Given the description of an element on the screen output the (x, y) to click on. 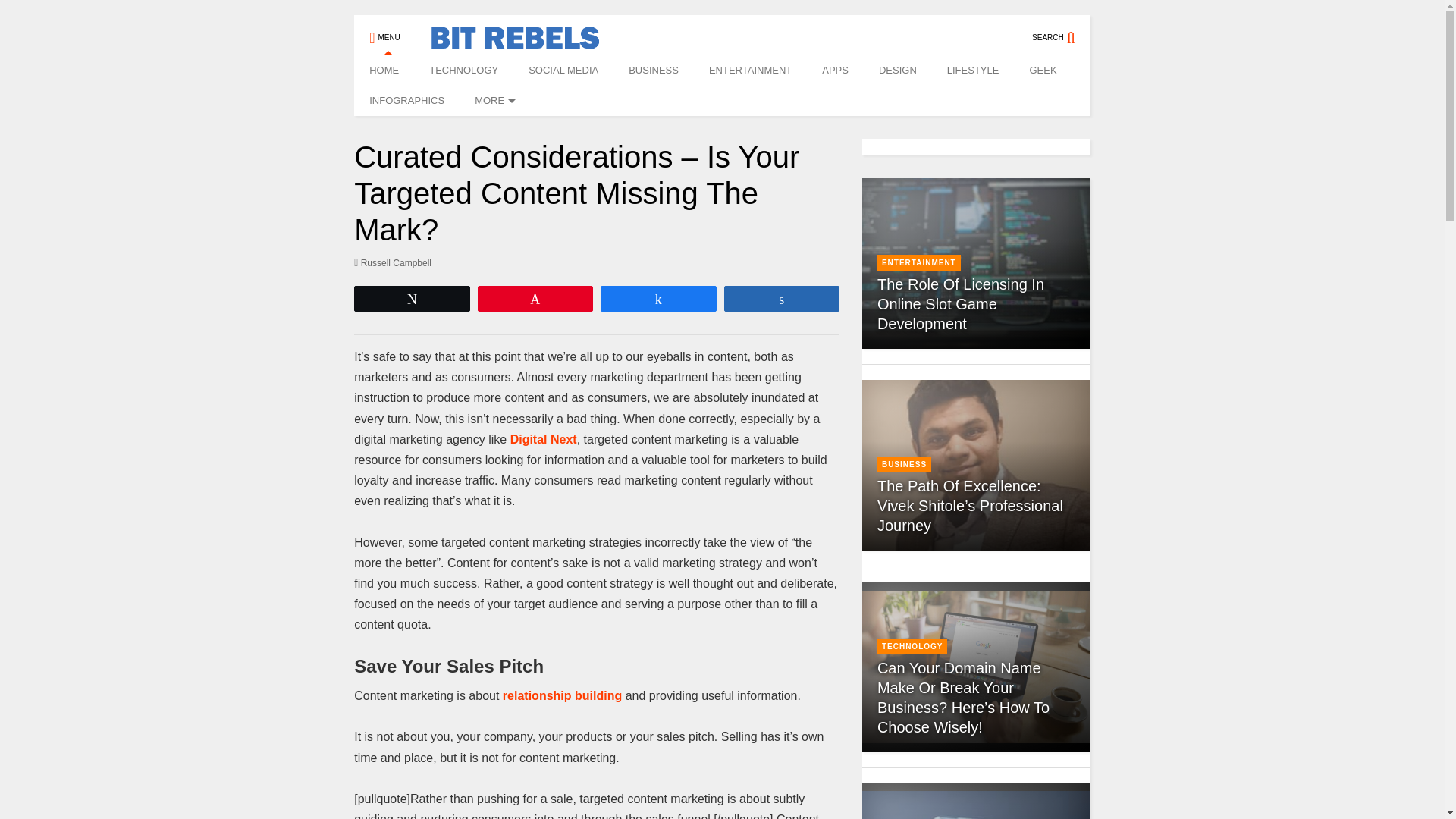
The Role Of Licensing In Online Slot Game Development (960, 304)
Russell Campbell (391, 263)
DESIGN (897, 70)
LIFESTYLE (972, 70)
The Role Of Licensing In Online Slot Game Development (975, 263)
APPS (834, 70)
INFOGRAPHICS (406, 100)
ENTERTAINMENT (750, 70)
Bit Rebels (506, 42)
MENU (383, 30)
